Given the description of an element on the screen output the (x, y) to click on. 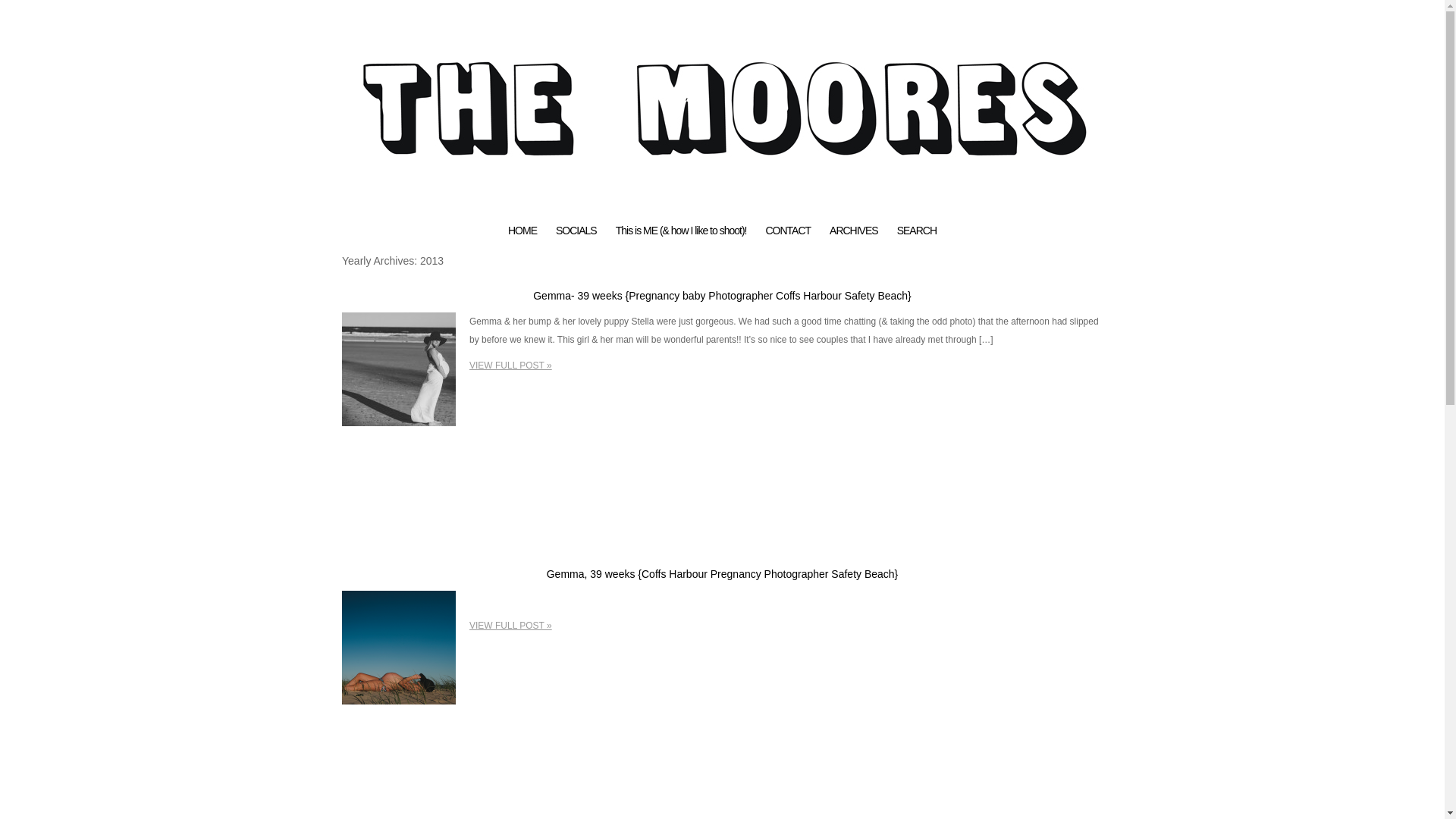
CONTACT Element type: text (787, 230)
HOME Element type: text (522, 230)
ARCHIVES Element type: text (853, 230)
This is ME (& how I like to shoot)! Element type: text (680, 230)
View full post  Element type: hover (398, 369)
SEARCH Element type: text (916, 230)
Leah Moore | Coffs Harbour Family Portrait Photographer Element type: hover (721, 214)
SOCIALS Element type: text (575, 230)
View full post  Element type: hover (398, 647)
